Given the description of an element on the screen output the (x, y) to click on. 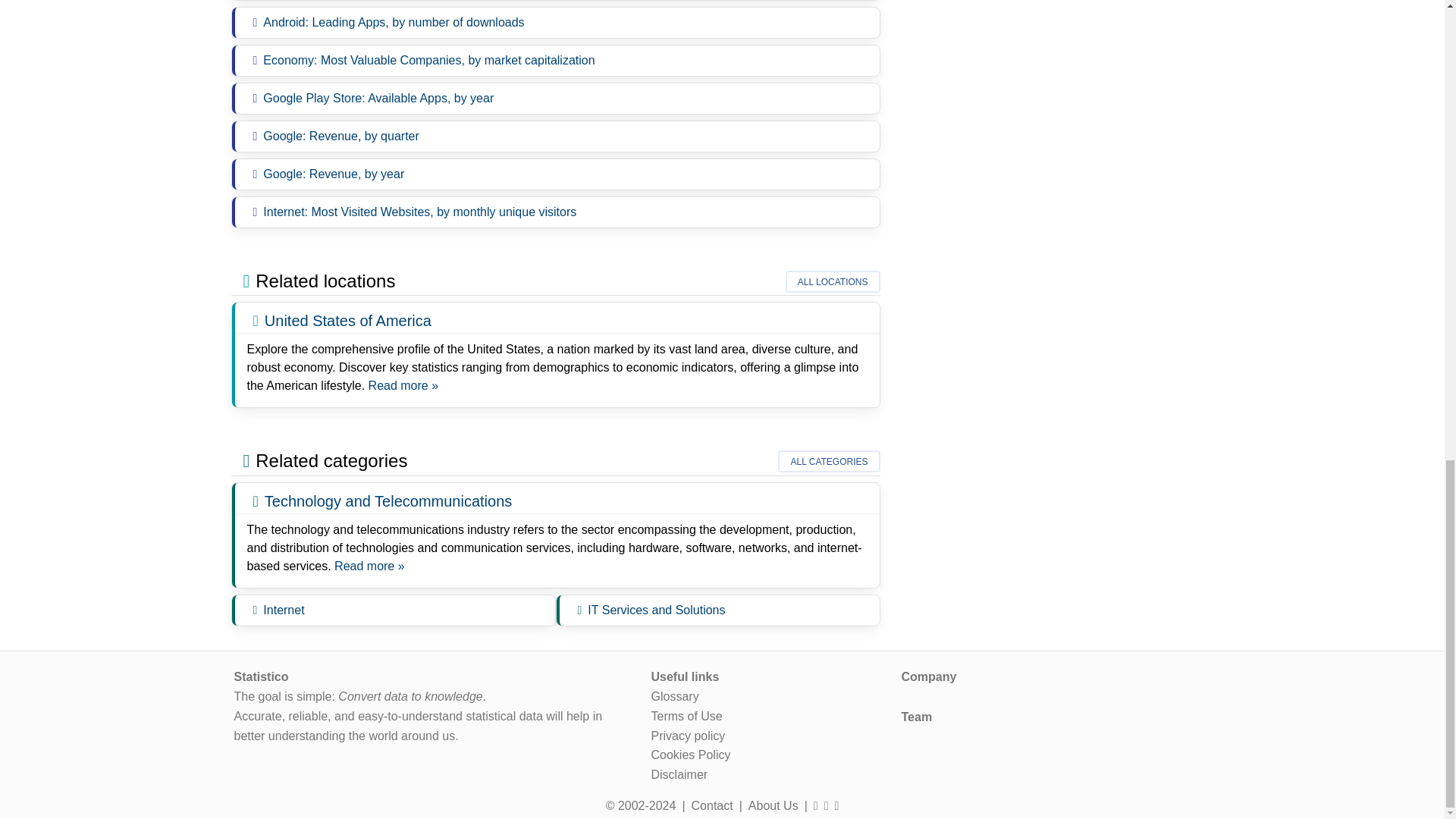
Internet (283, 609)
Google Play Store: Available Apps, by year (378, 97)
ALL LOCATIONS (833, 281)
United States of America (347, 320)
Internet (283, 609)
Internet: Most Visited Websites, by monthly unique visitors (419, 211)
ALL CATEGORIES (828, 461)
All categories (828, 461)
United States of America (403, 385)
IT Services and Solutions (656, 609)
Technology and Telecommunications (369, 565)
All locations (833, 281)
IT Services and Solutions (656, 609)
Economy: Most Valuable Companies, by market capitalization (428, 60)
Availability of Applications in the Google Play Store (378, 97)
